Given the description of an element on the screen output the (x, y) to click on. 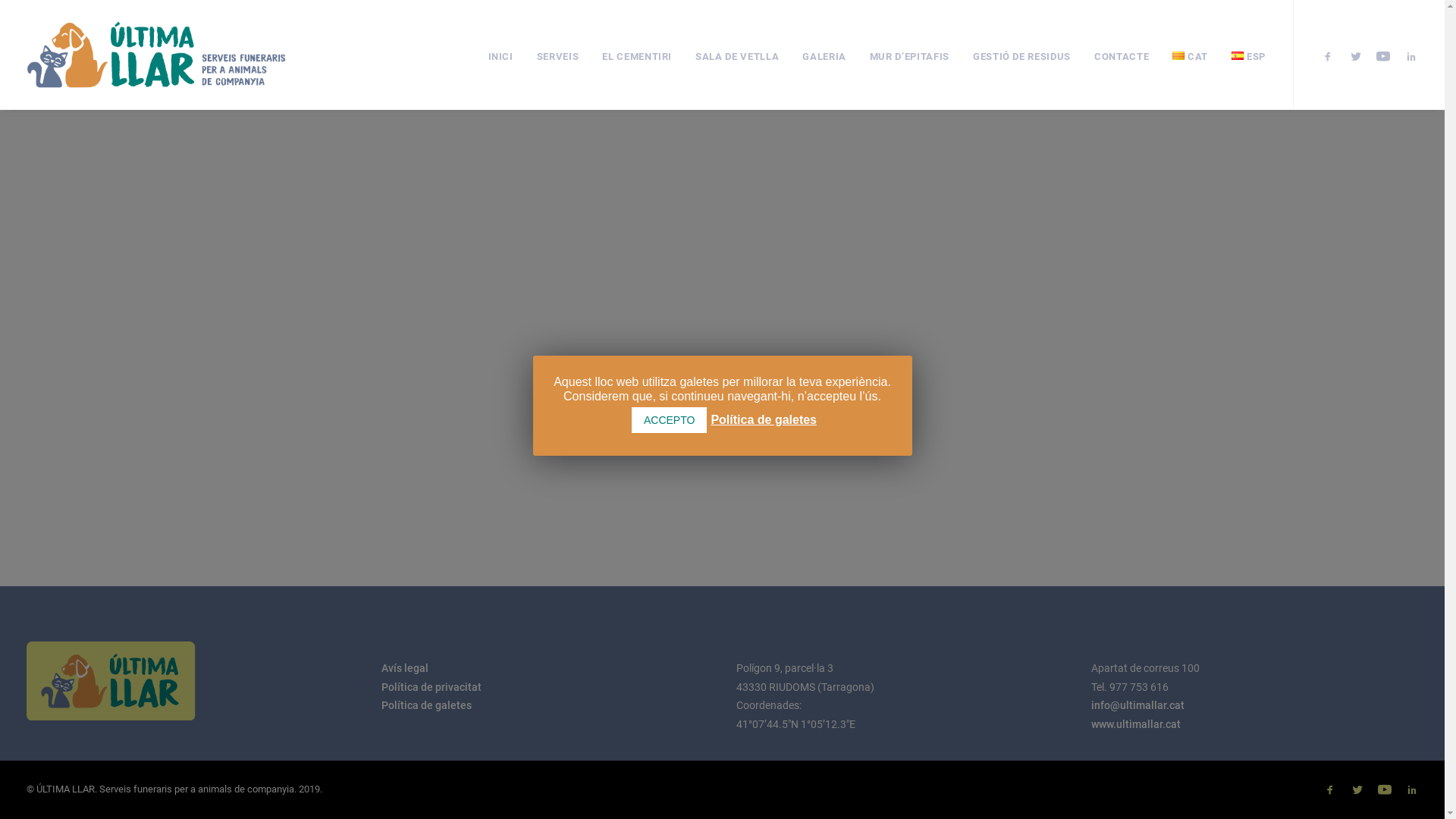
ESP Element type: text (1242, 56)
SALA DE VETLLA Element type: text (736, 54)
ESP Element type: hover (1237, 55)
ACCEPTO Element type: text (668, 420)
CAT Element type: hover (1178, 55)
info@ultimallar.cat Element type: text (1136, 705)
SERVEIS Element type: text (557, 54)
INICI Element type: text (500, 54)
CONTACTE Element type: text (1121, 54)
www.ultimallar.cat Element type: text (1134, 724)
CAT Element type: text (1189, 56)
GALERIA Element type: text (823, 54)
EL CEMENTIRI Element type: text (636, 54)
